Given the description of an element on the screen output the (x, y) to click on. 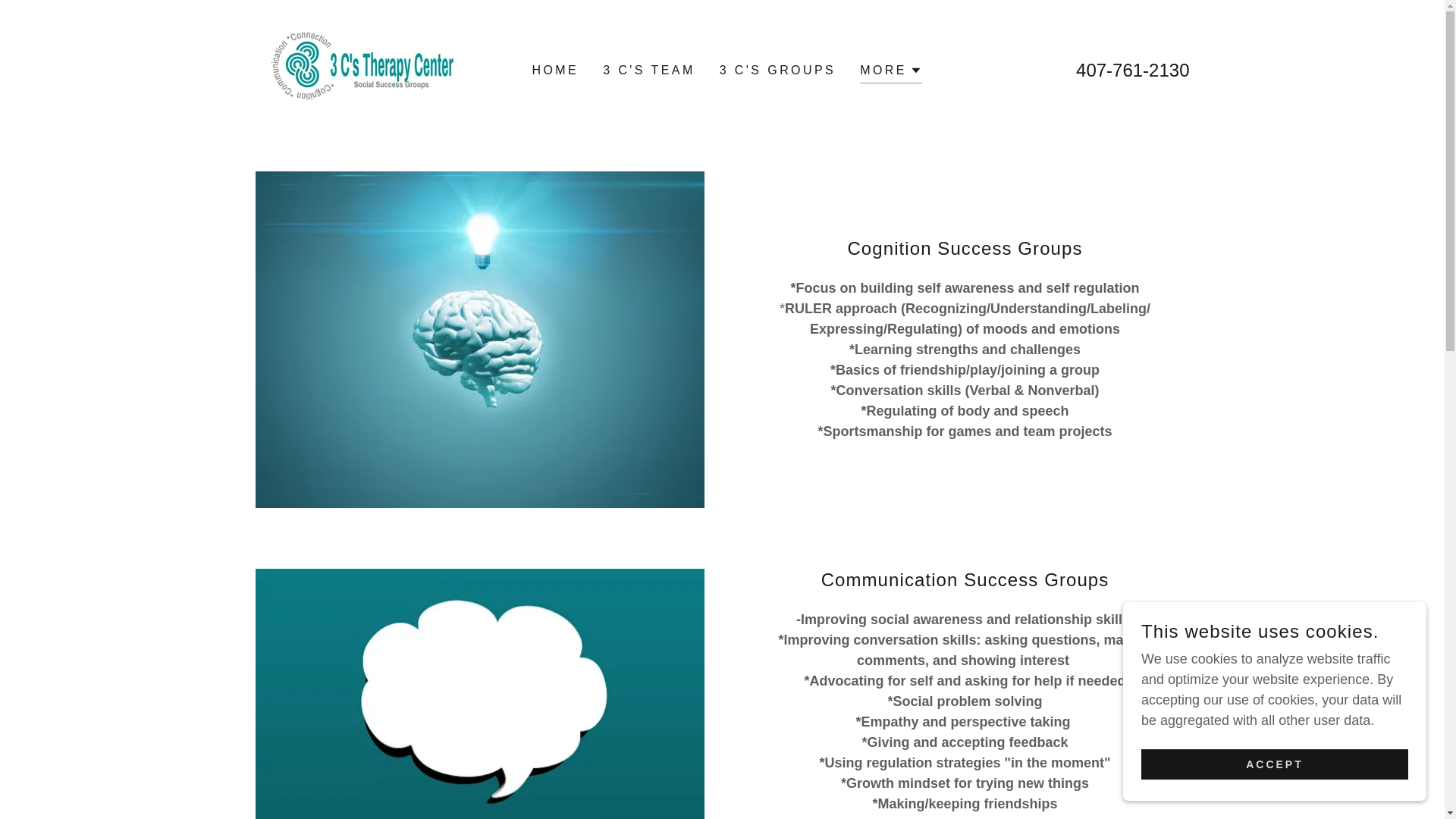
ACCEPT Element type: text (1274, 764)
MORE Element type: text (890, 72)
HOME Element type: text (555, 70)
407-761-2130 Element type: text (1132, 69)
3 C's Therapy Center  Element type: hover (360, 69)
3 C'S TEAM Element type: text (648, 70)
3 C'S GROUPS Element type: text (777, 70)
